Given the description of an element on the screen output the (x, y) to click on. 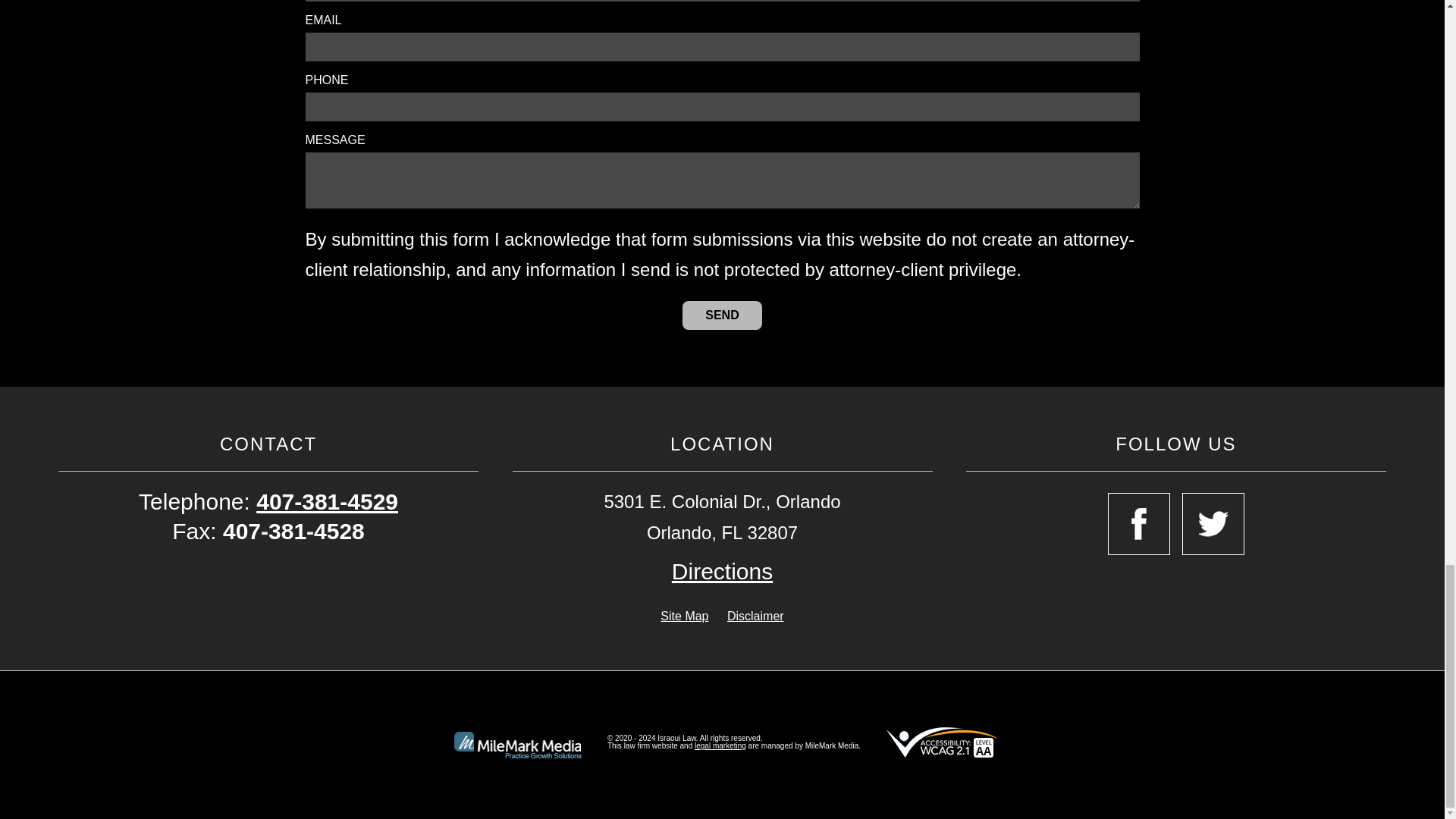
Send (721, 315)
Open Facebook in a New Window (1139, 524)
Open MileMarkMedia.com in a New Window (719, 746)
Open Google Map in a New Window (722, 571)
Open Twitter in a New Window (1213, 524)
